Given the description of an element on the screen output the (x, y) to click on. 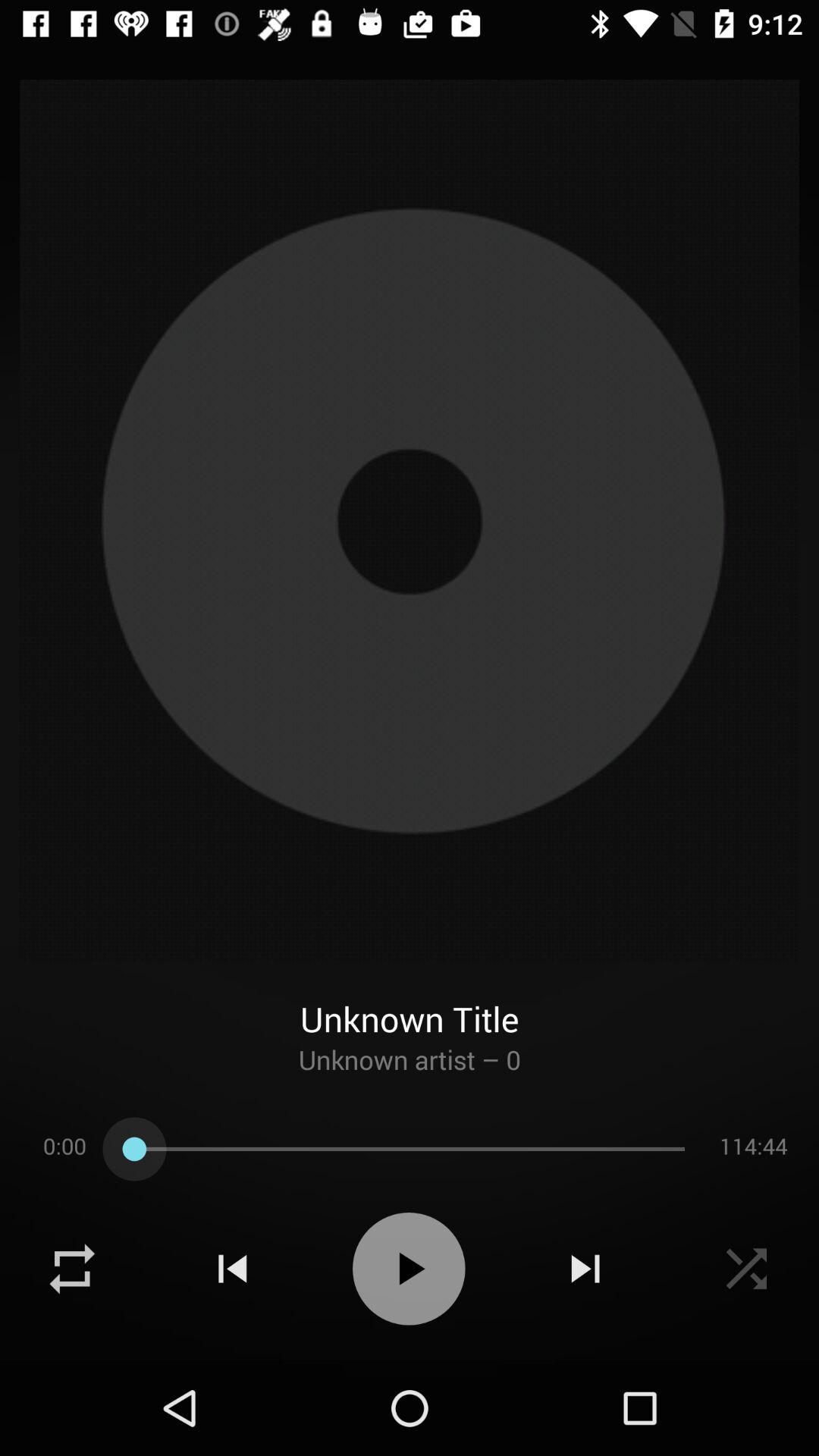
play audio file (408, 1268)
